Given the description of an element on the screen output the (x, y) to click on. 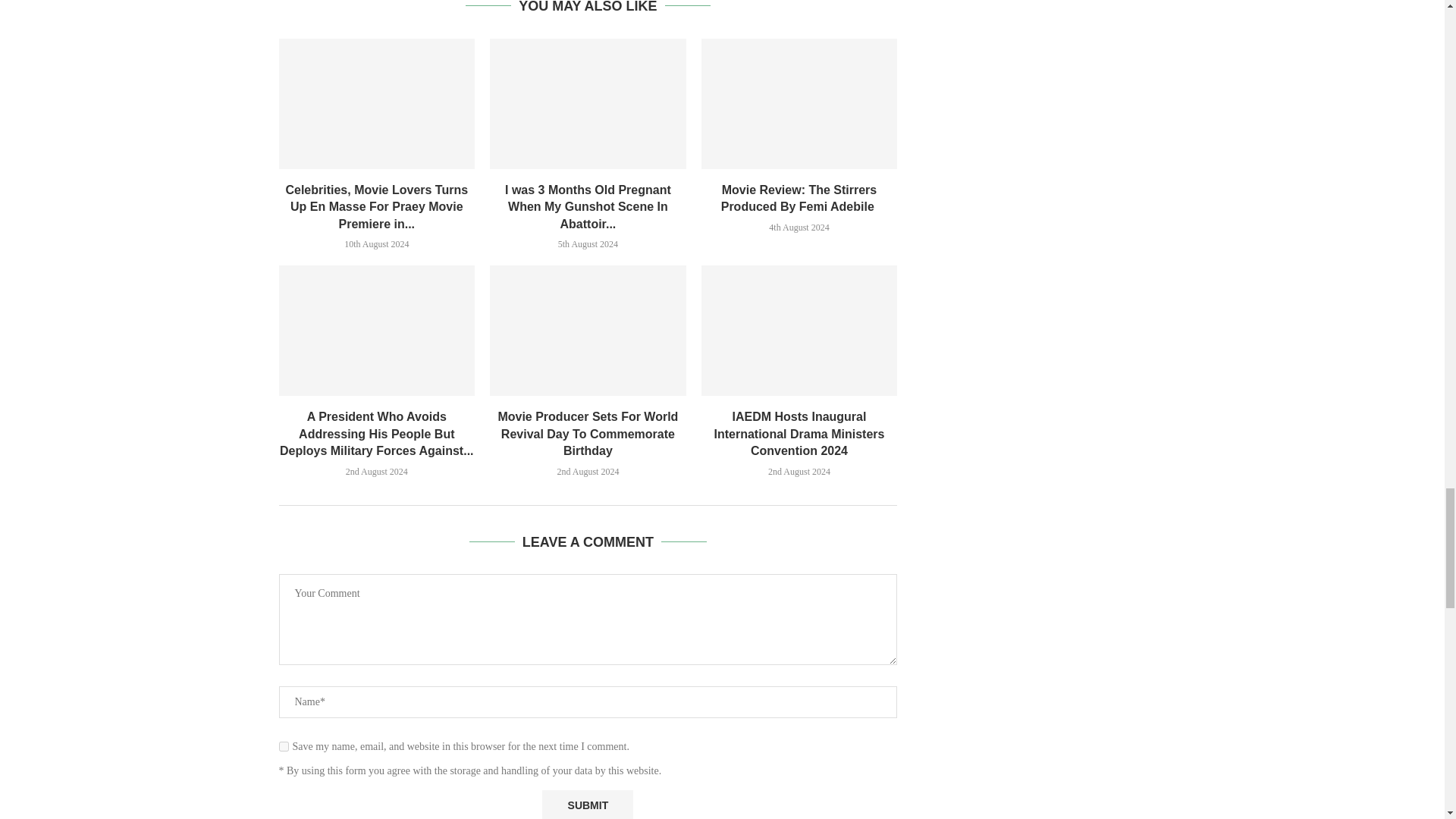
Submit (587, 804)
yes (283, 746)
